Given the description of an element on the screen output the (x, y) to click on. 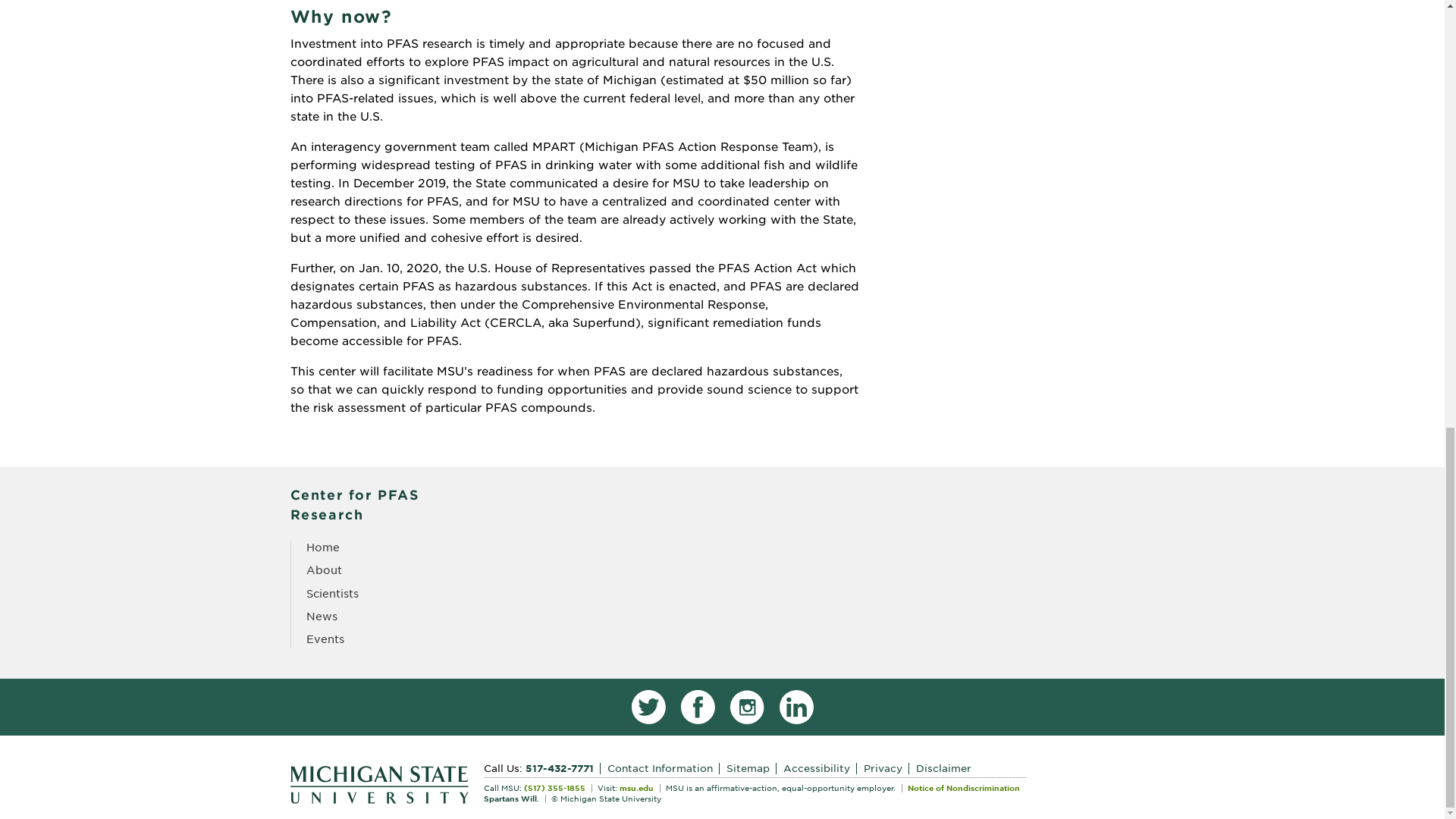
Sitemap (751, 767)
Contact Information (663, 767)
News (321, 616)
Events (324, 639)
Scientists (331, 593)
About (323, 570)
517-432-7771 (561, 767)
Home (322, 547)
